Given the description of an element on the screen output the (x, y) to click on. 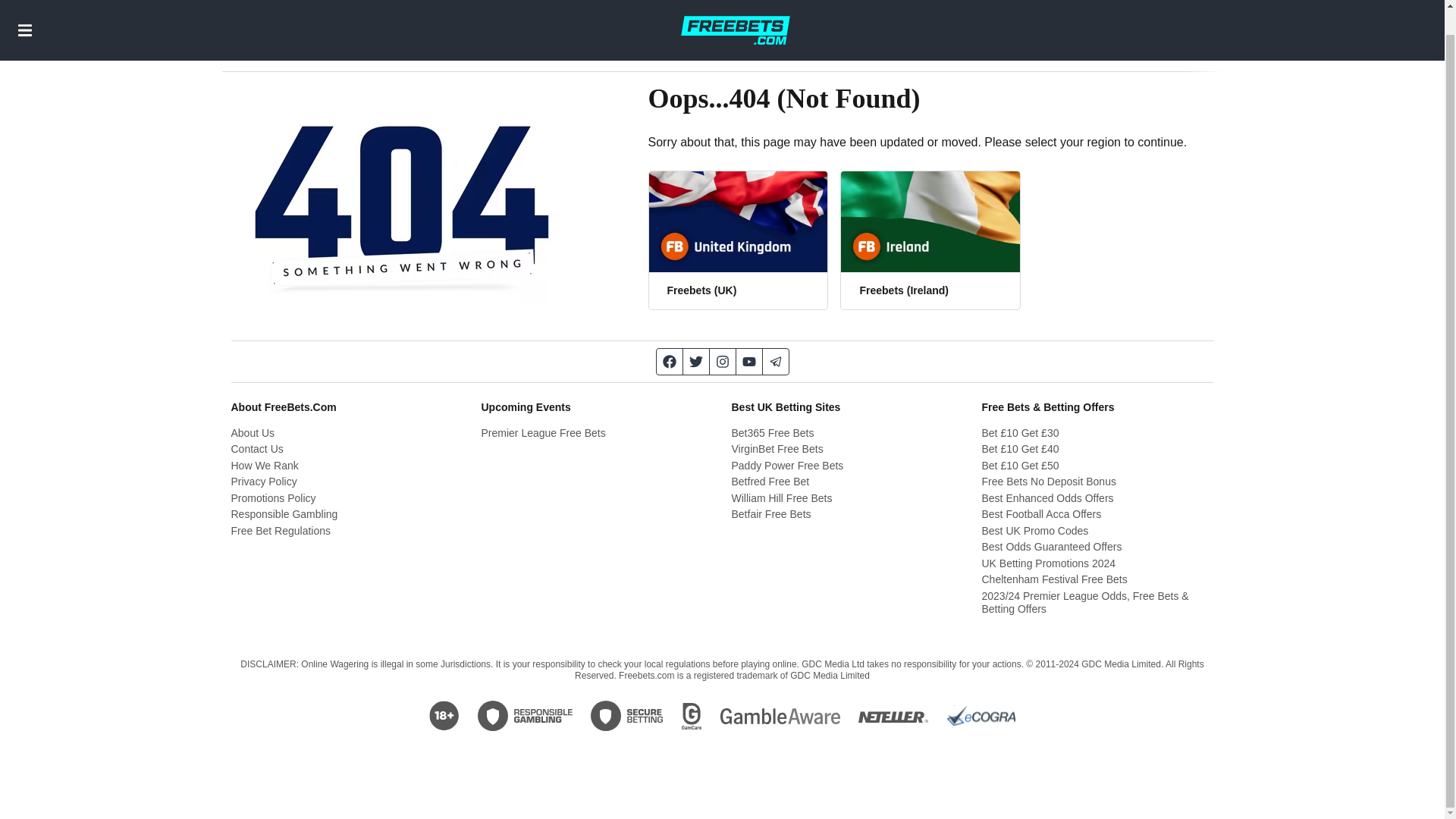
FreeBets Logo (735, 16)
Instagram page (723, 361)
Facebook page (669, 361)
Youtube page (748, 361)
Twitter feed (695, 361)
Telegram (775, 361)
